Given the description of an element on the screen output the (x, y) to click on. 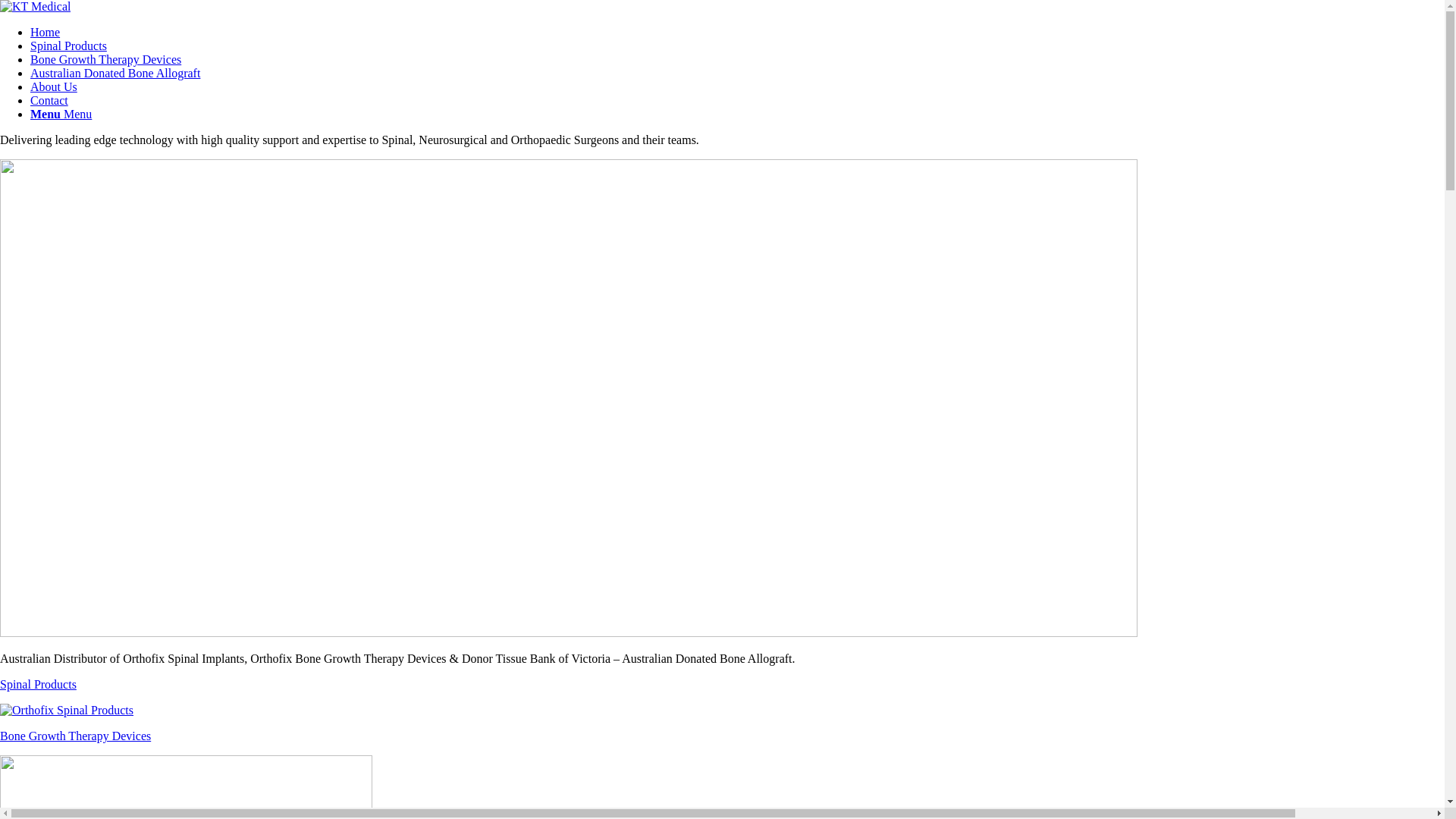
Contact Element type: text (49, 100)
Home Element type: text (44, 31)
Spinal Products Element type: text (68, 45)
Australian Donated Bone Allograft Element type: text (115, 72)
Spinal Products Element type: text (722, 696)
Menu Menu Element type: text (60, 113)
Header Element type: hover (568, 398)
Bone Growth Therapy Devices Element type: text (105, 59)
Orthofix Spinal Products Element type: hover (66, 710)
About Us Element type: text (53, 86)
